Given the description of an element on the screen output the (x, y) to click on. 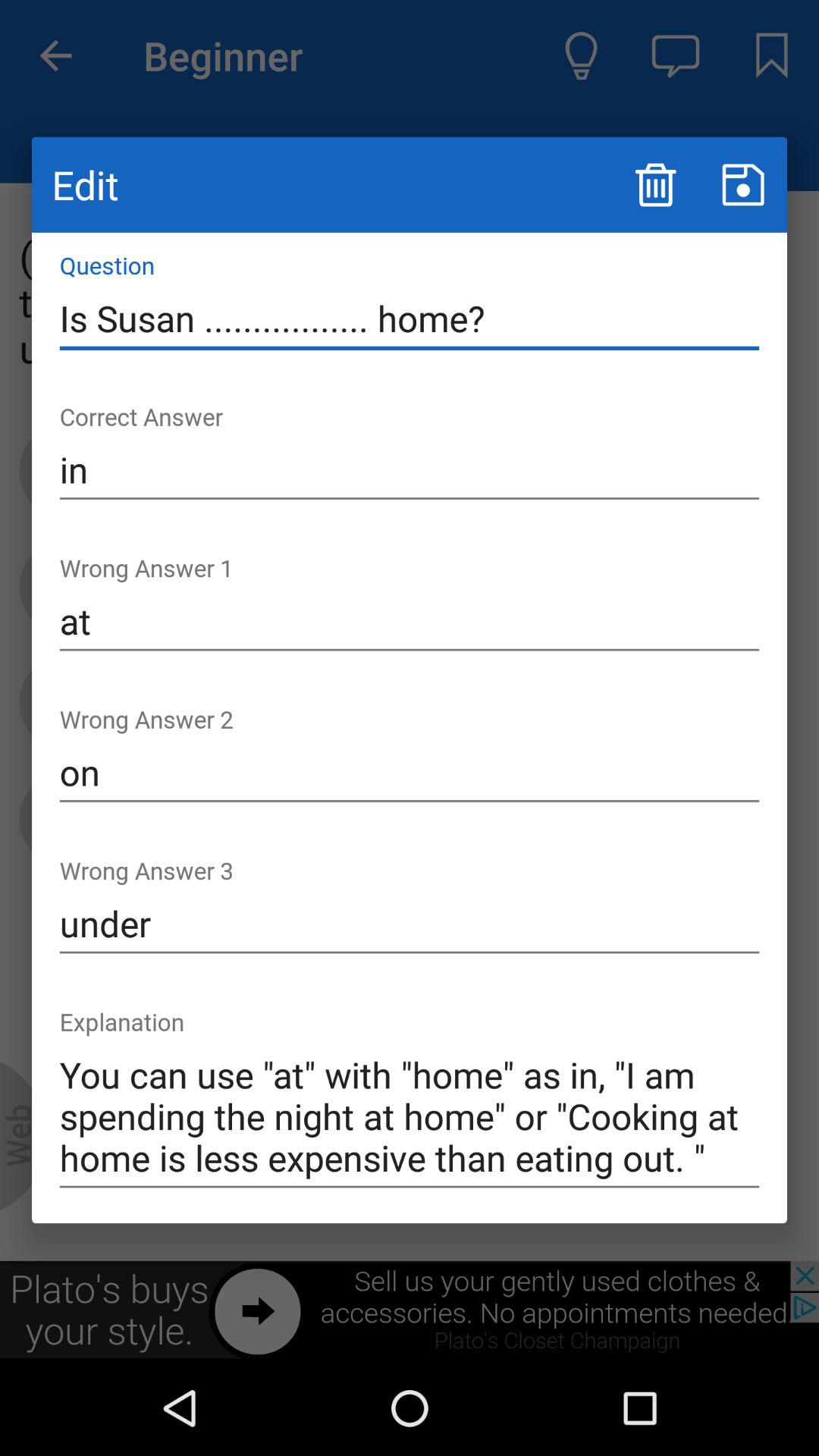
save button (743, 184)
